Given the description of an element on the screen output the (x, y) to click on. 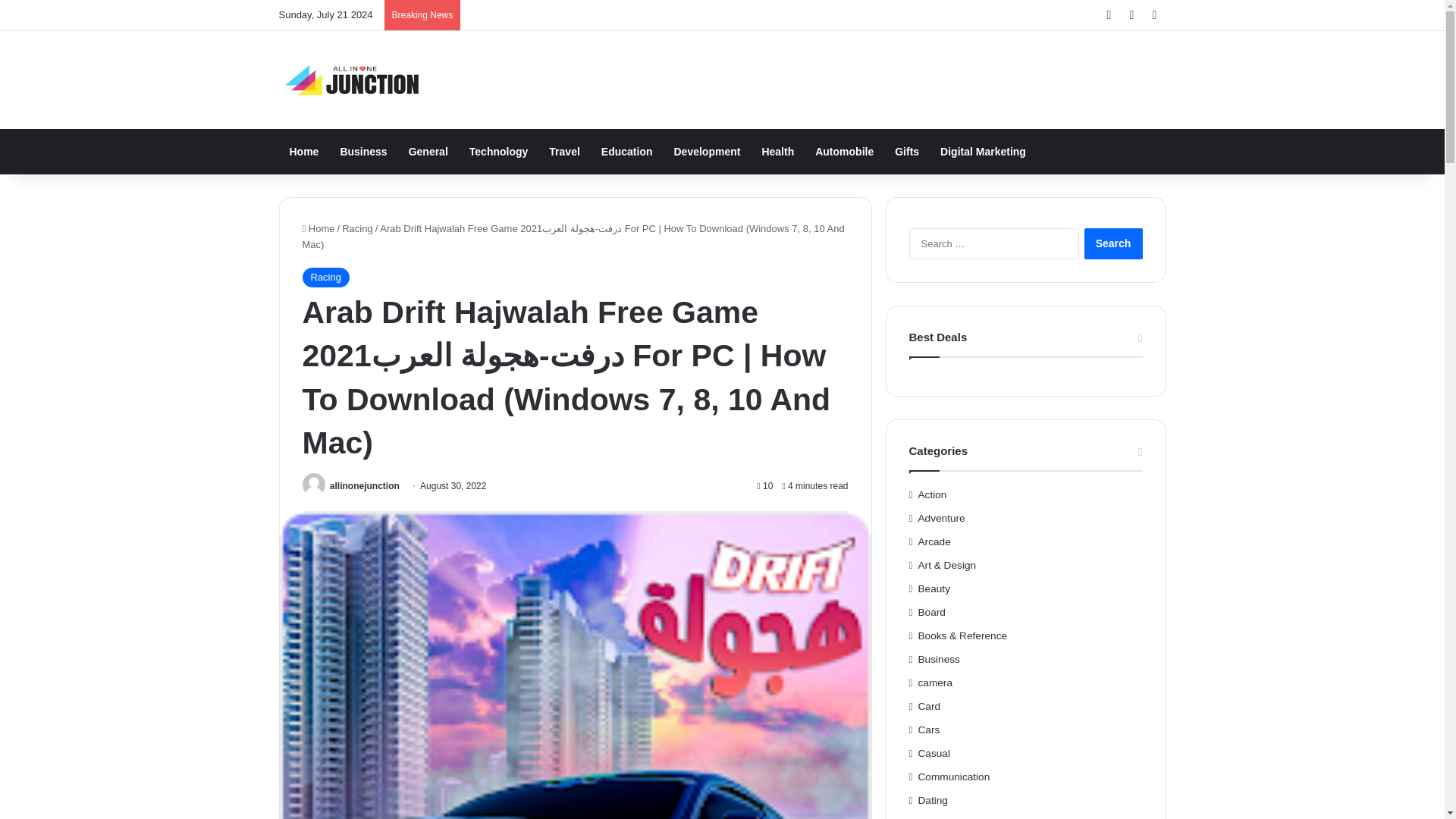
All in One Junction (352, 79)
Business (363, 151)
Development (706, 151)
Search (1113, 243)
Technology (498, 151)
Automobile (844, 151)
General (427, 151)
allinonejunction (364, 485)
Travel (563, 151)
allinonejunction (364, 485)
Racing (325, 277)
Home (304, 151)
Education (627, 151)
Gifts (906, 151)
Health (778, 151)
